Given the description of an element on the screen output the (x, y) to click on. 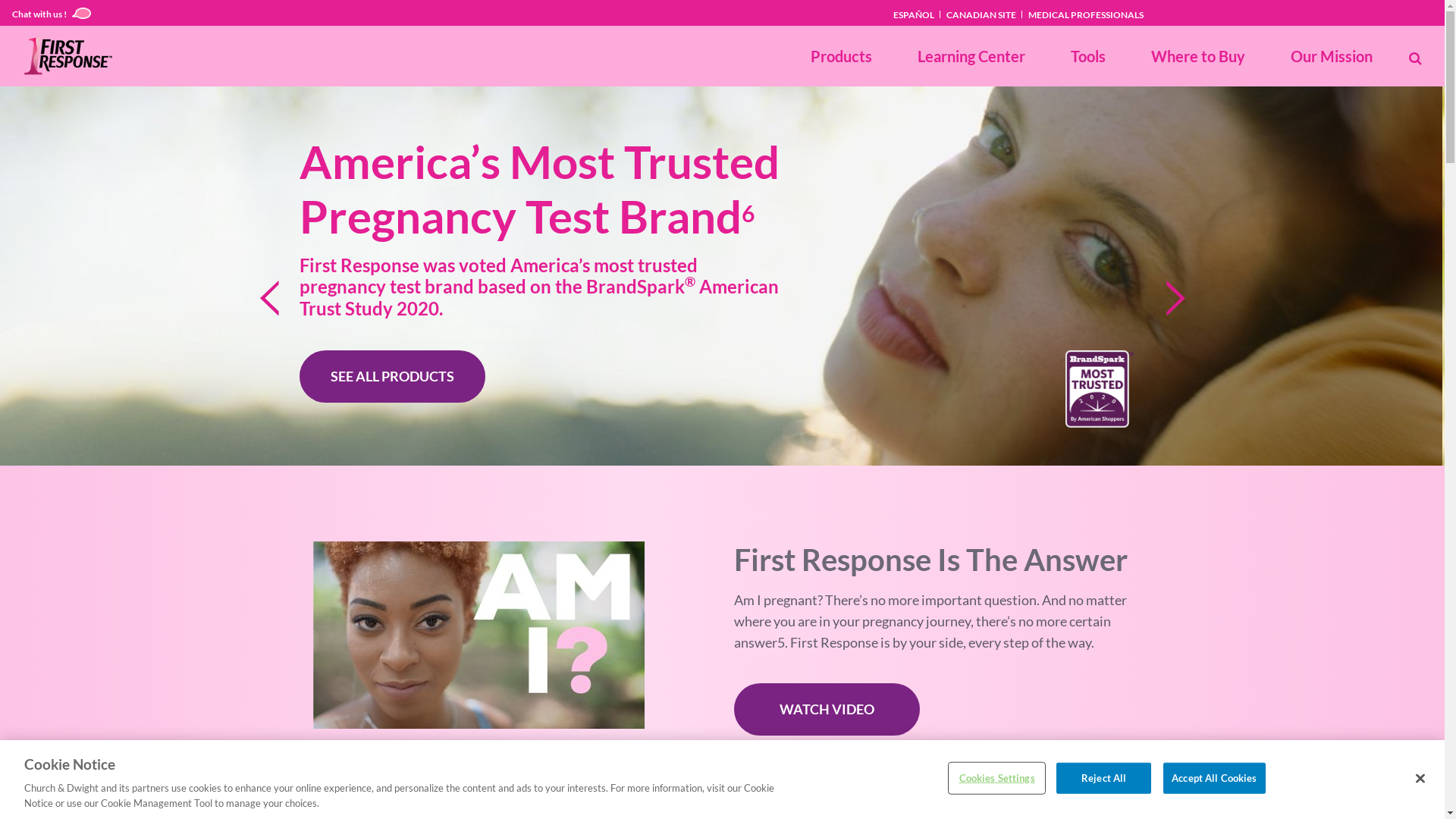
Tools Element type: text (1088, 55)
Reject All Element type: text (1103, 778)
Where to Buy Element type: text (1197, 55)
Chat with us ! Element type: text (51, 12)
CANADIAN SITE Element type: text (981, 14)
Learning Center Element type: text (971, 55)
Our Mission Element type: text (1331, 55)
Accept All Cookies Element type: text (1213, 778)
WATCH VIDEO Element type: text (826, 709)
Cookies Settings Element type: text (996, 778)
MEDICAL PROFESSIONALS Element type: text (1085, 14)
Products Element type: text (840, 55)
SEE ALL PRODUCTS Element type: text (392, 376)
